Given the description of an element on the screen output the (x, y) to click on. 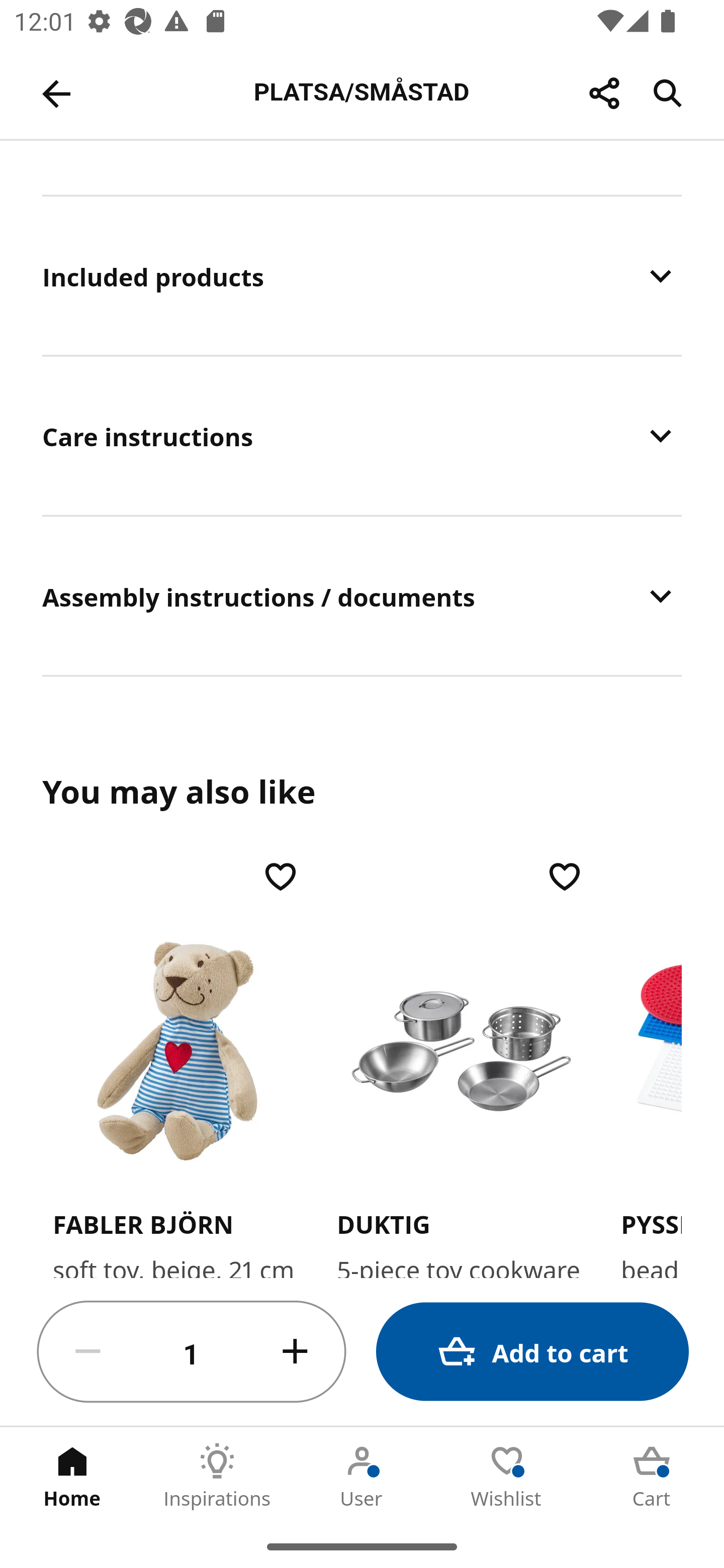
Included products (361, 275)
Care instructions (361, 435)
Assembly instructions / documents (361, 595)
Add to cart (531, 1352)
1 (191, 1352)
Home
Tab 1 of 5 (72, 1476)
Inspirations
Tab 2 of 5 (216, 1476)
User
Tab 3 of 5 (361, 1476)
Wishlist
Tab 4 of 5 (506, 1476)
Cart
Tab 5 of 5 (651, 1476)
